Given the description of an element on the screen output the (x, y) to click on. 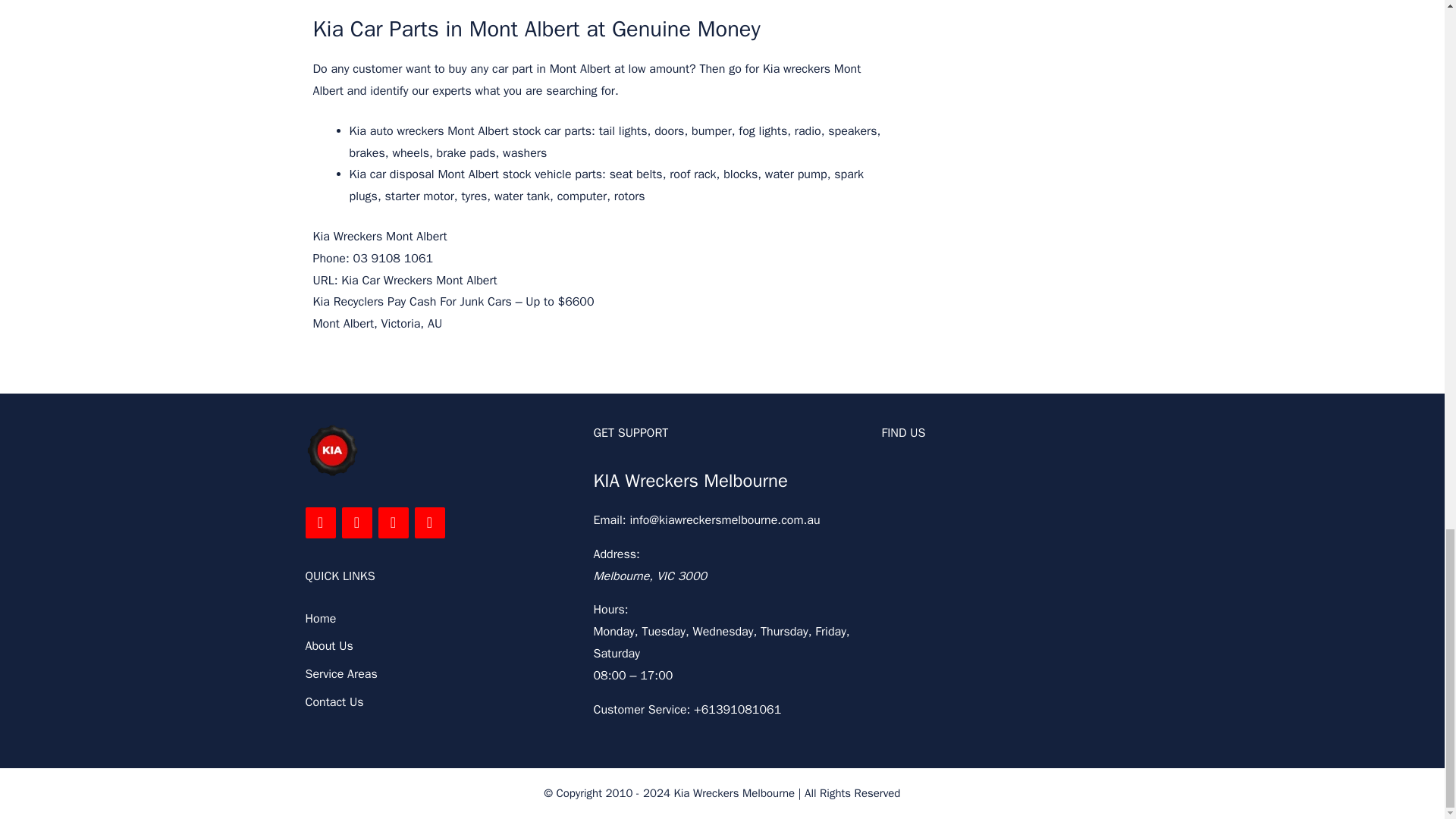
Facebook (319, 522)
Kia Wreckers Melbourne (733, 793)
About Us (328, 645)
Service Areas (340, 673)
Home (320, 618)
Contact Us (333, 702)
KIA Wreckers Melbourne (689, 480)
Contact (428, 522)
LinkedIn (355, 522)
Kia Car Wreckers Mont Albert (418, 280)
Kia Wreckers Melbourne (331, 450)
